Given the description of an element on the screen output the (x, y) to click on. 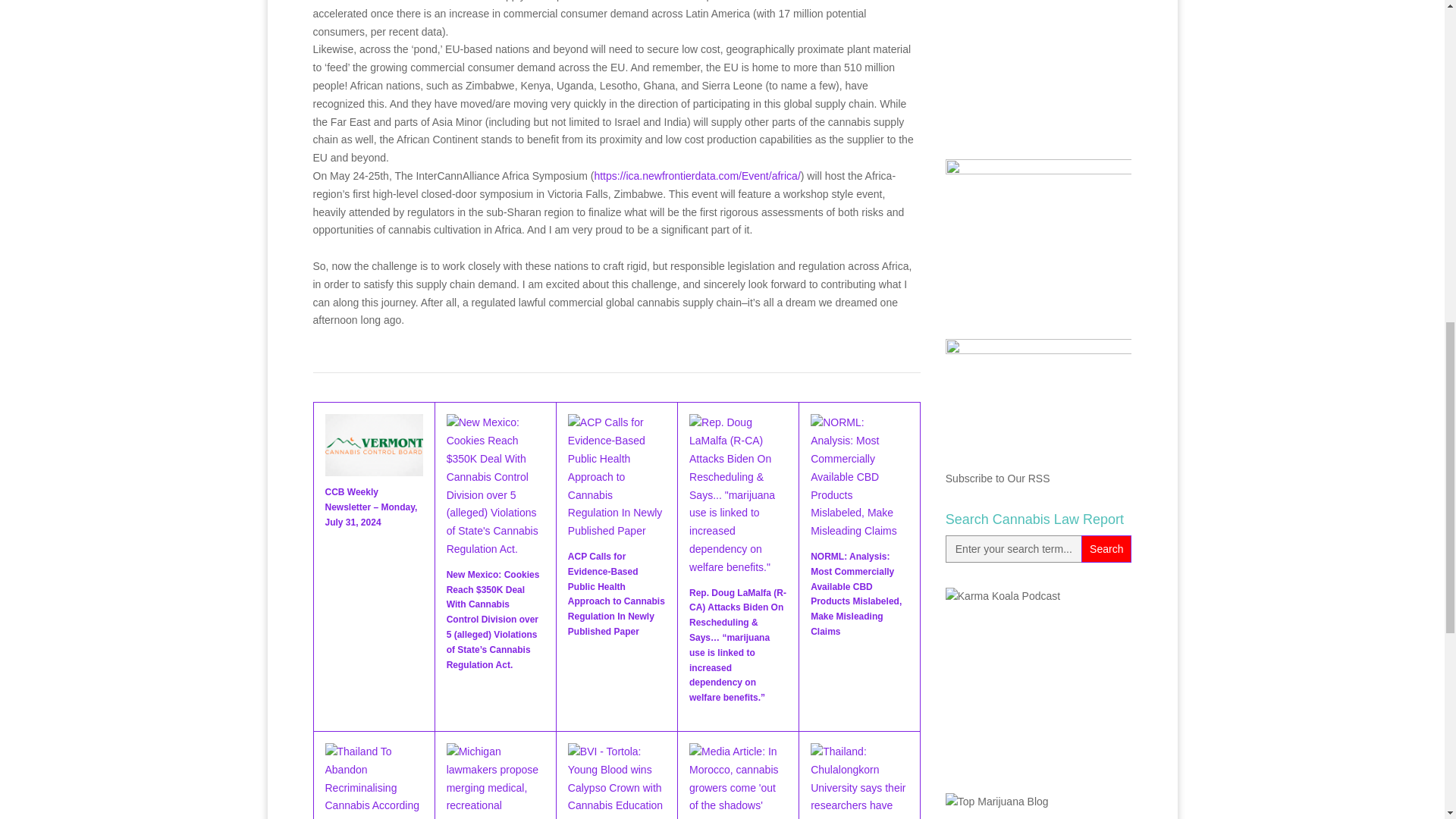
Search (1106, 548)
Search (1106, 548)
